Given the description of an element on the screen output the (x, y) to click on. 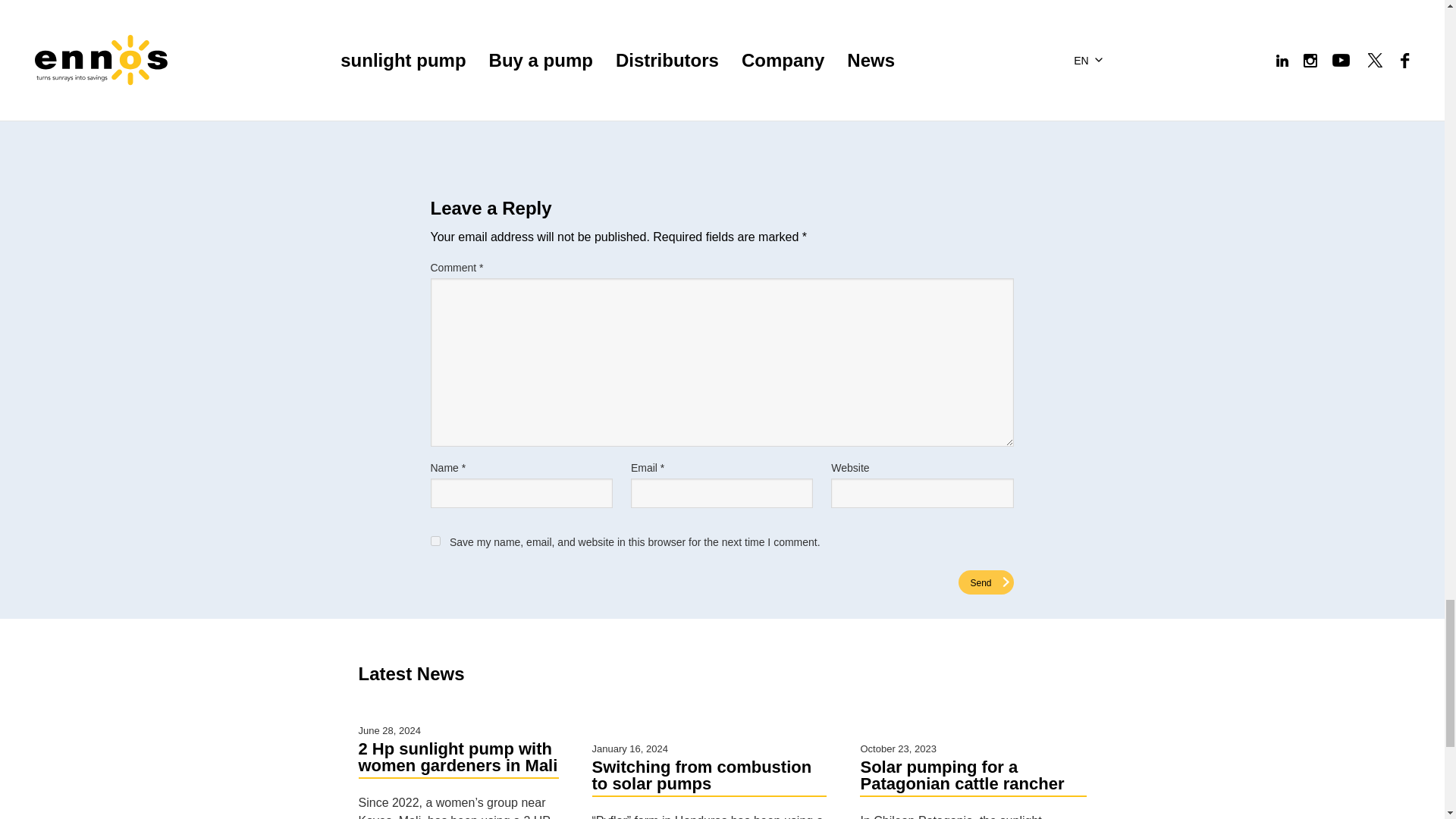
Send (985, 582)
Solar pumping for a Patagonian cattle rancher (973, 777)
yes (435, 540)
Switching from combustion to solar pumps (709, 777)
